Given the description of an element on the screen output the (x, y) to click on. 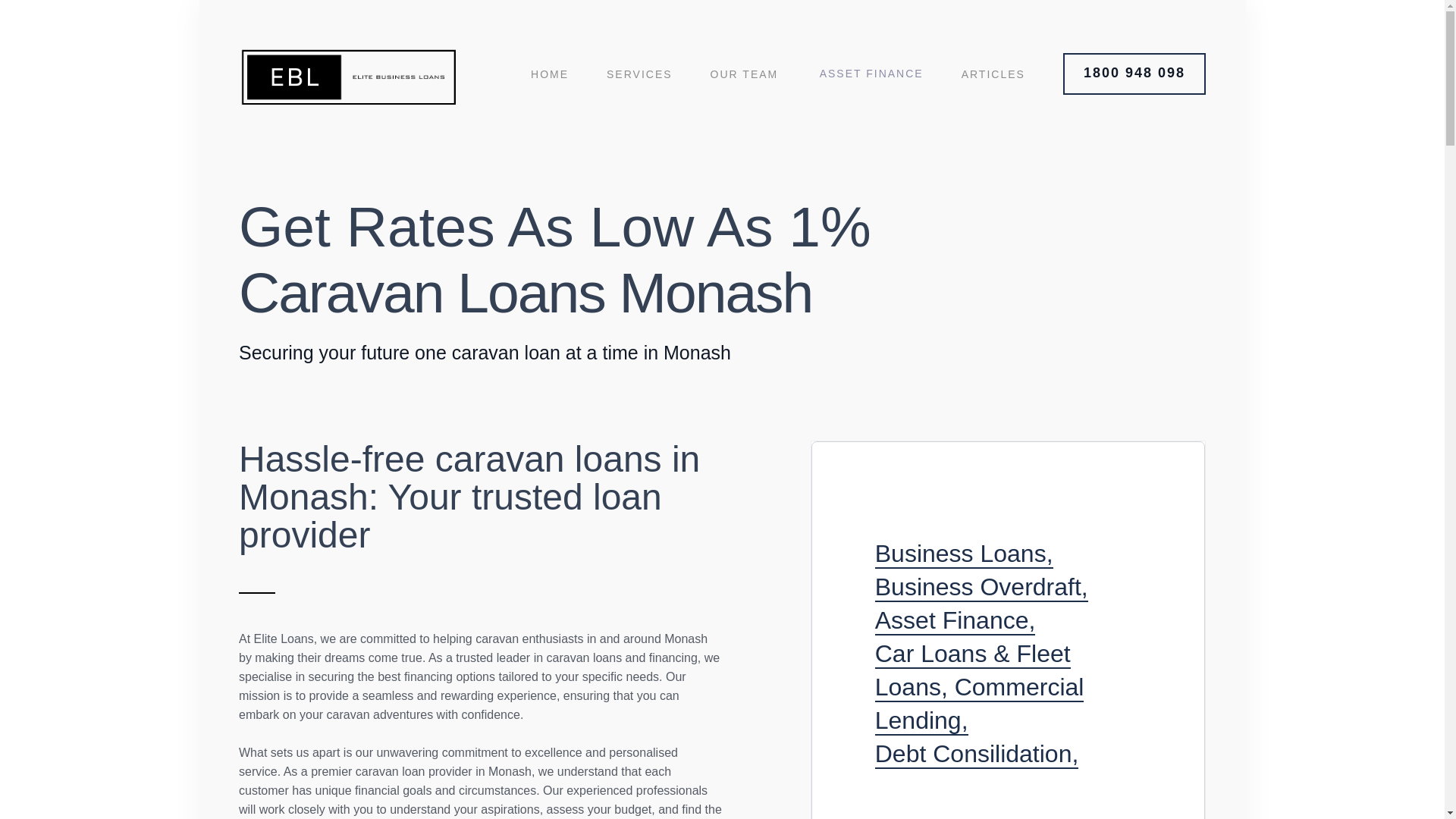
OUR TEAM (744, 74)
HOME (550, 74)
Business Overdraft, (981, 587)
ARTICLES (992, 74)
Business Loans, (963, 553)
Asset Finance, (955, 620)
Debt Consilidation, (976, 754)
SERVICES (639, 74)
1800 948 098 (1133, 74)
